Given the description of an element on the screen output the (x, y) to click on. 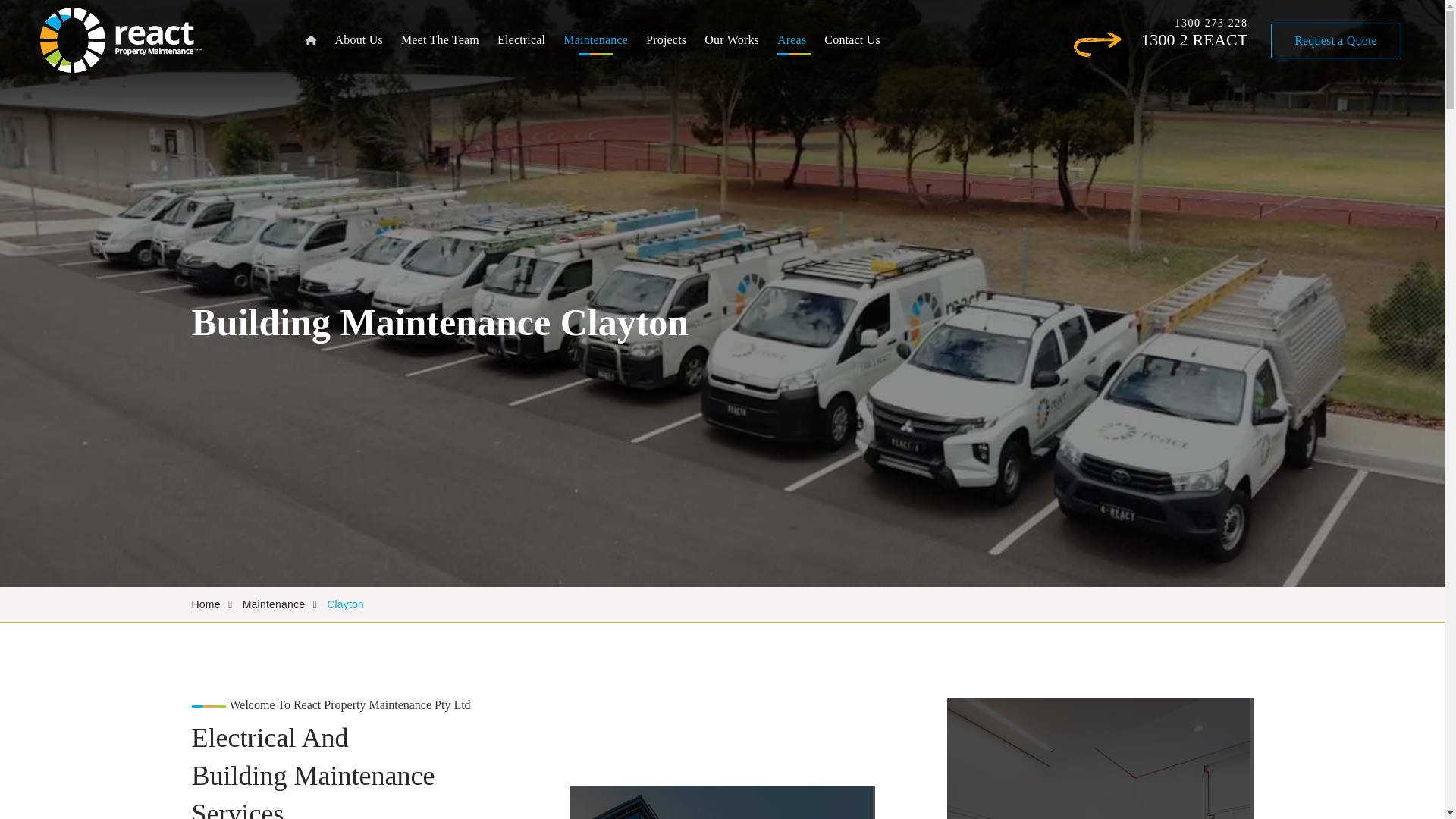
Services02 (720, 802)
Electrical (520, 40)
Home (309, 40)
Maintenance (595, 40)
About Us (358, 40)
Our Works (731, 40)
Projects (665, 40)
Meet The Team (440, 40)
Areas (791, 40)
React Property Maintenance Home (120, 39)
